Given the description of an element on the screen output the (x, y) to click on. 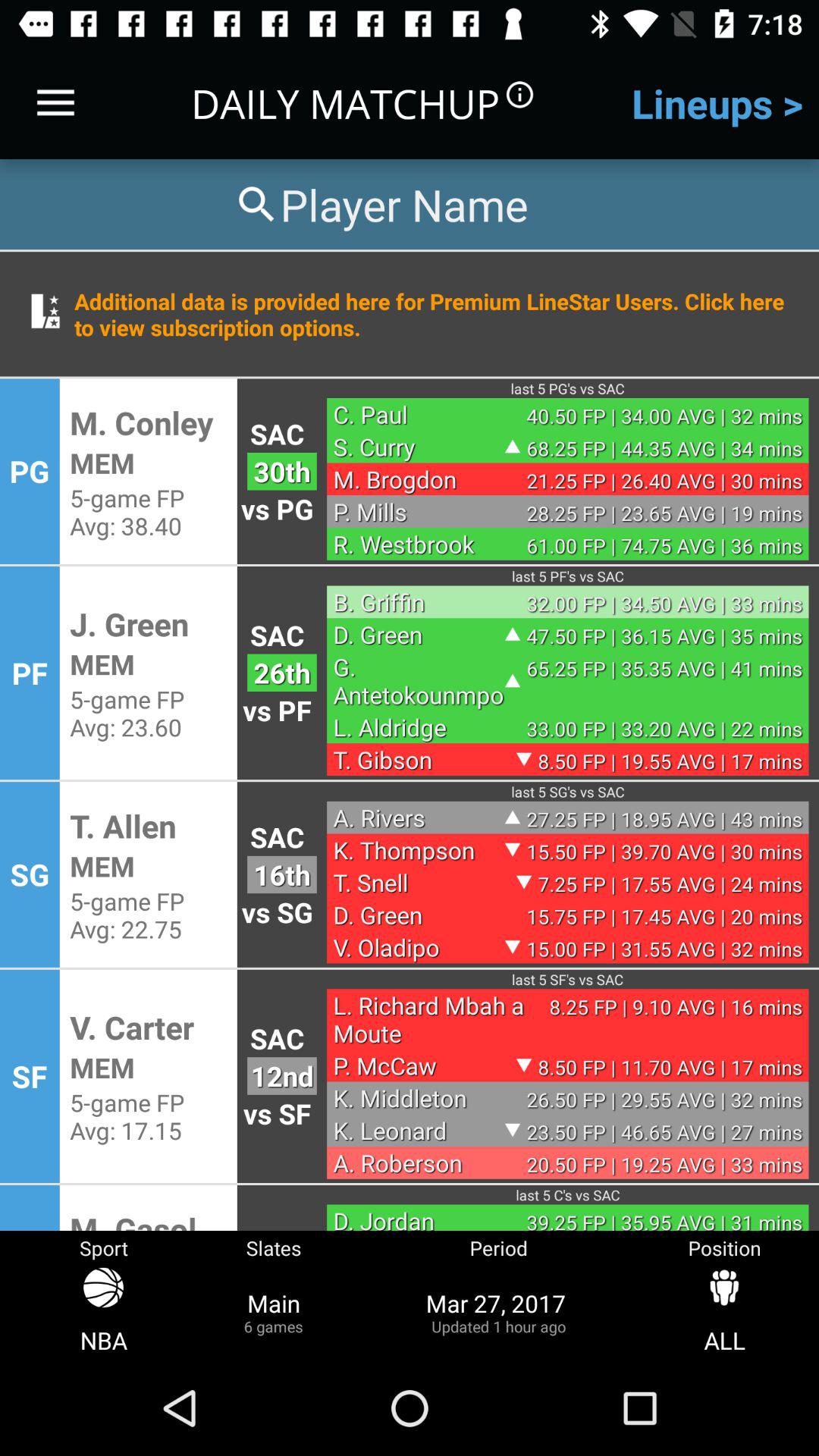
select icon below d. green icon (418, 680)
